Given the description of an element on the screen output the (x, y) to click on. 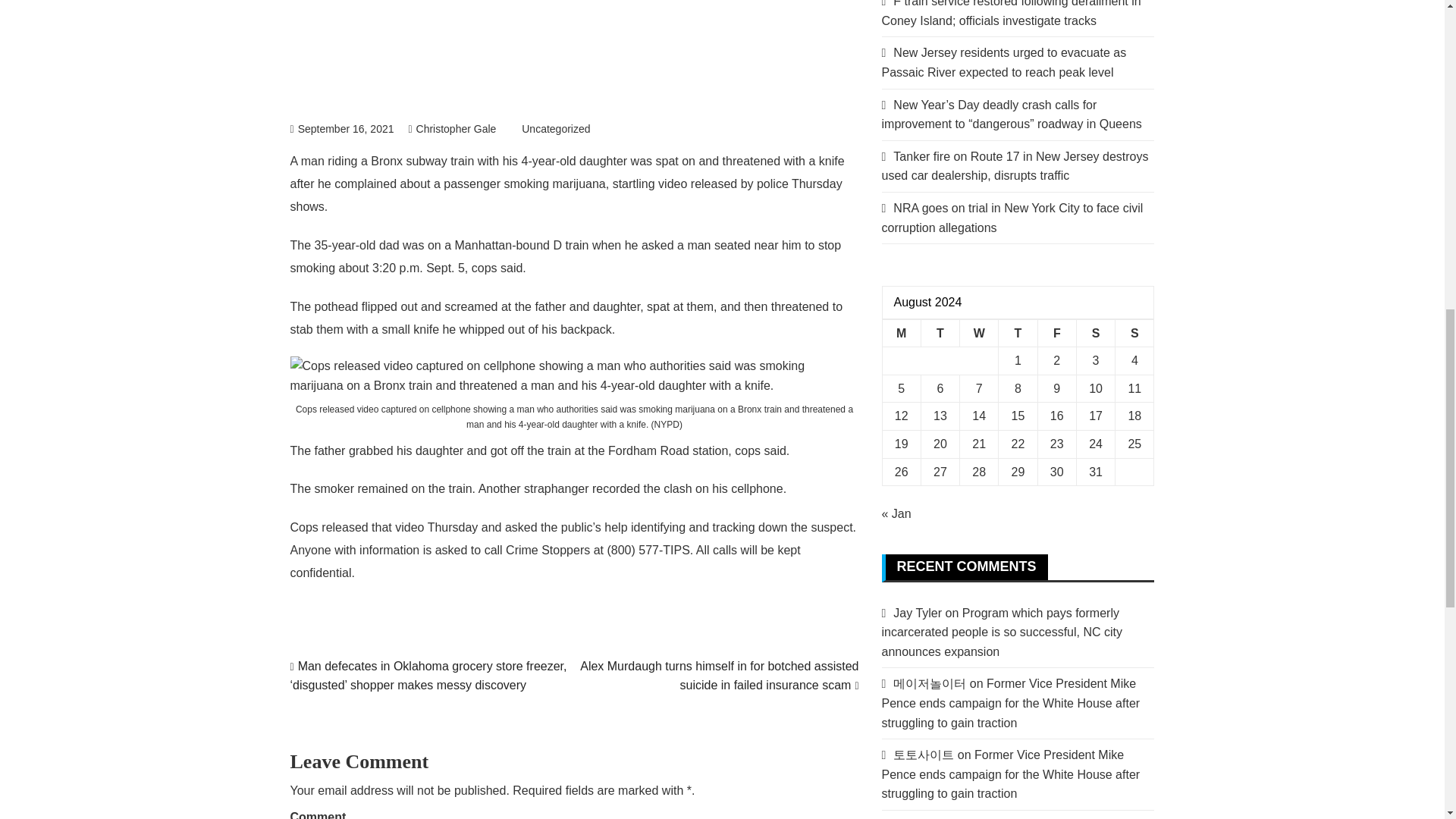
Sunday (1134, 333)
September 16, 2021 (341, 128)
Wednesday (978, 333)
Friday (1055, 333)
Christopher Gale (451, 128)
Thursday (1017, 333)
Tuesday (939, 333)
Jay Tyler (917, 612)
